Given the description of an element on the screen output the (x, y) to click on. 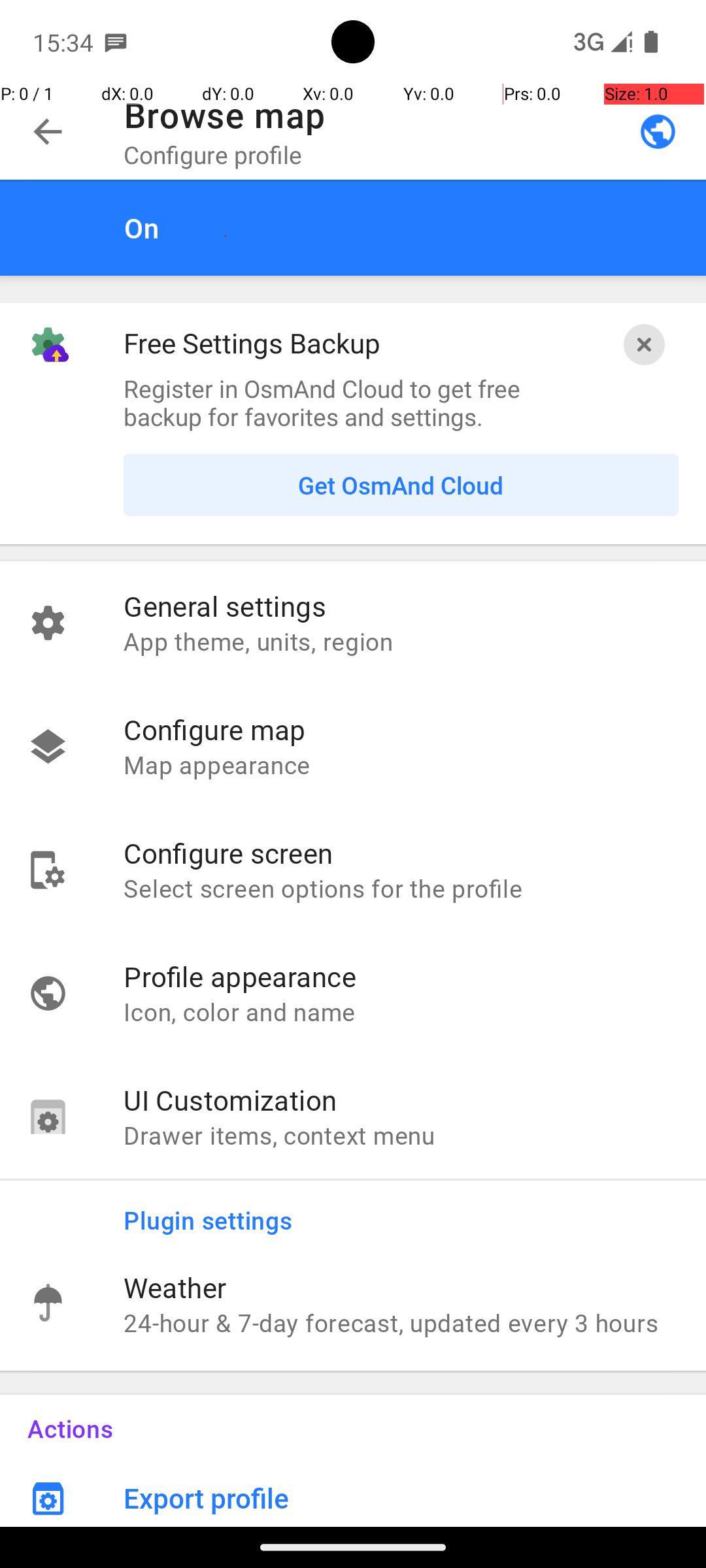
Map Element type: android.view.View (353, 763)
Browse map Element type: android.widget.TextView (224, 114)
Configure profile Element type: android.widget.TextView (212, 154)
App profile type Element type: android.widget.ImageView (657, 131)
On Element type: android.widget.TextView (401, 227)
Free Settings Backup Element type: android.widget.TextView (252, 342)
Register in OsmAnd Cloud to get free backup for favorites and settings. Element type: android.widget.TextView (352, 402)
General settings Element type: android.widget.TextView (400, 605)
App theme, units, region Element type: android.widget.TextView (400, 640)
Configure map Element type: android.widget.TextView (400, 729)
Map appearance Element type: android.widget.TextView (400, 764)
Configure screen Element type: android.widget.TextView (400, 852)
Select screen options for the profile Element type: android.widget.TextView (400, 887)
Profile appearance Element type: android.widget.TextView (400, 976)
Icon, color and name Element type: android.widget.TextView (400, 1011)
UI Customization Element type: android.widget.TextView (400, 1099)
Drawer items, context menu Element type: android.widget.TextView (400, 1134)
Plugin settings Element type: android.widget.TextView (414, 1211)
Weather Element type: android.widget.TextView (400, 1287)
24-hour & 7-day forecast, updated every 3 hours Element type: android.widget.TextView (400, 1322)
Export profile Element type: android.widget.TextView (414, 1491)
Get OsmAnd Cloud Element type: android.widget.TextView (400, 485)
